Given the description of an element on the screen output the (x, y) to click on. 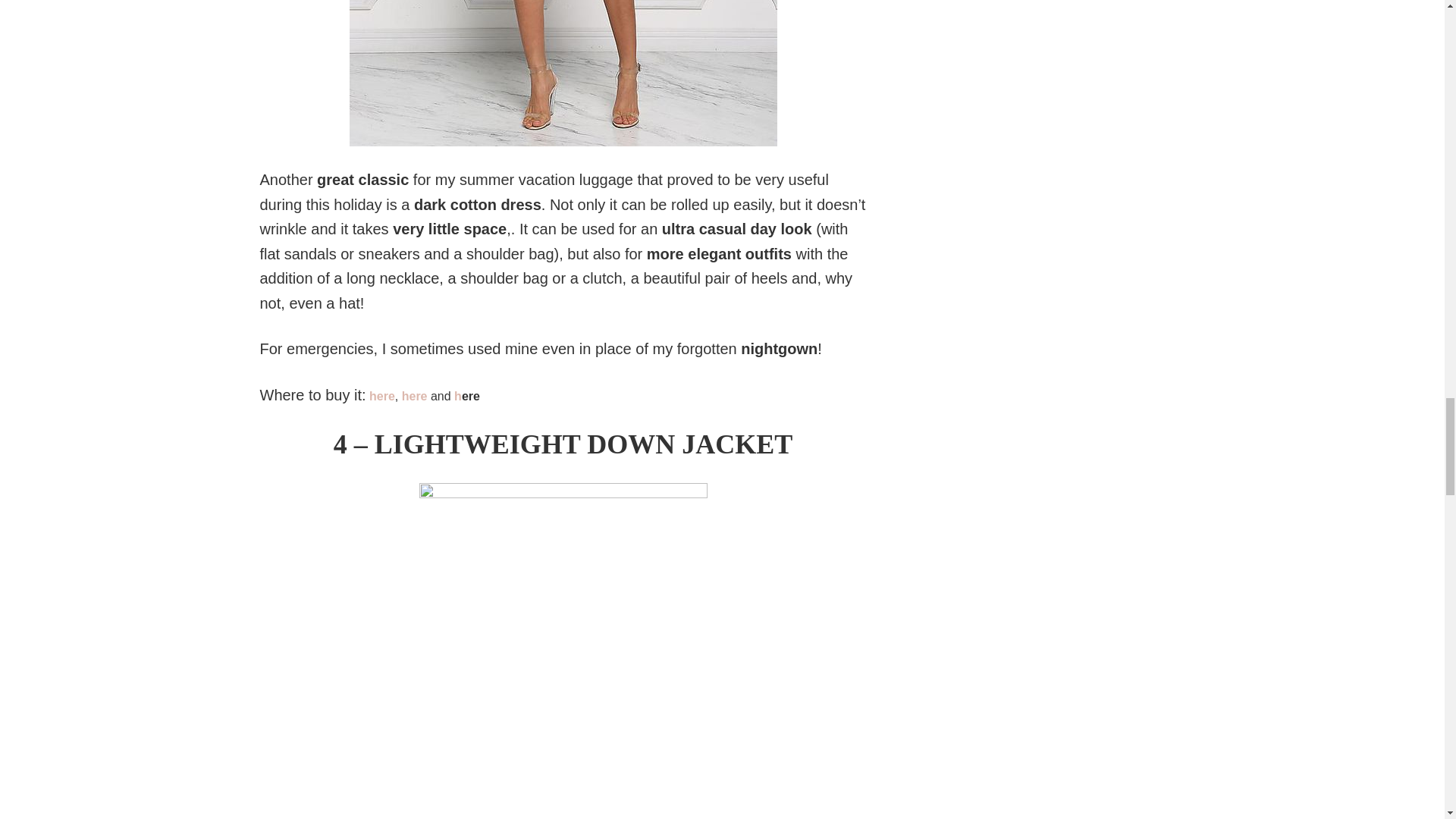
here (415, 395)
here (381, 395)
